Given the description of an element on the screen output the (x, y) to click on. 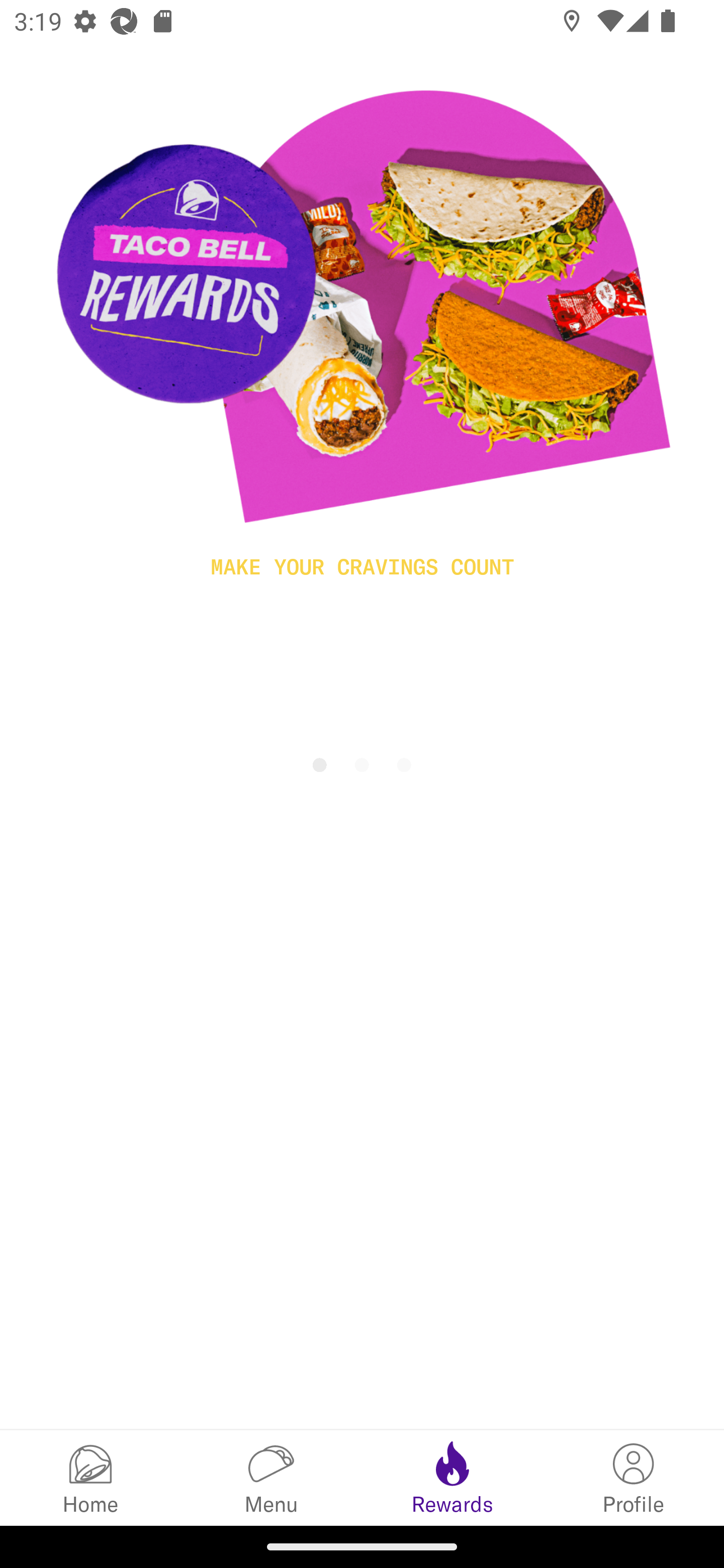
Home (90, 1476)
Menu (271, 1476)
Rewards (452, 1476)
My Info Profile (633, 1476)
